Given the description of an element on the screen output the (x, y) to click on. 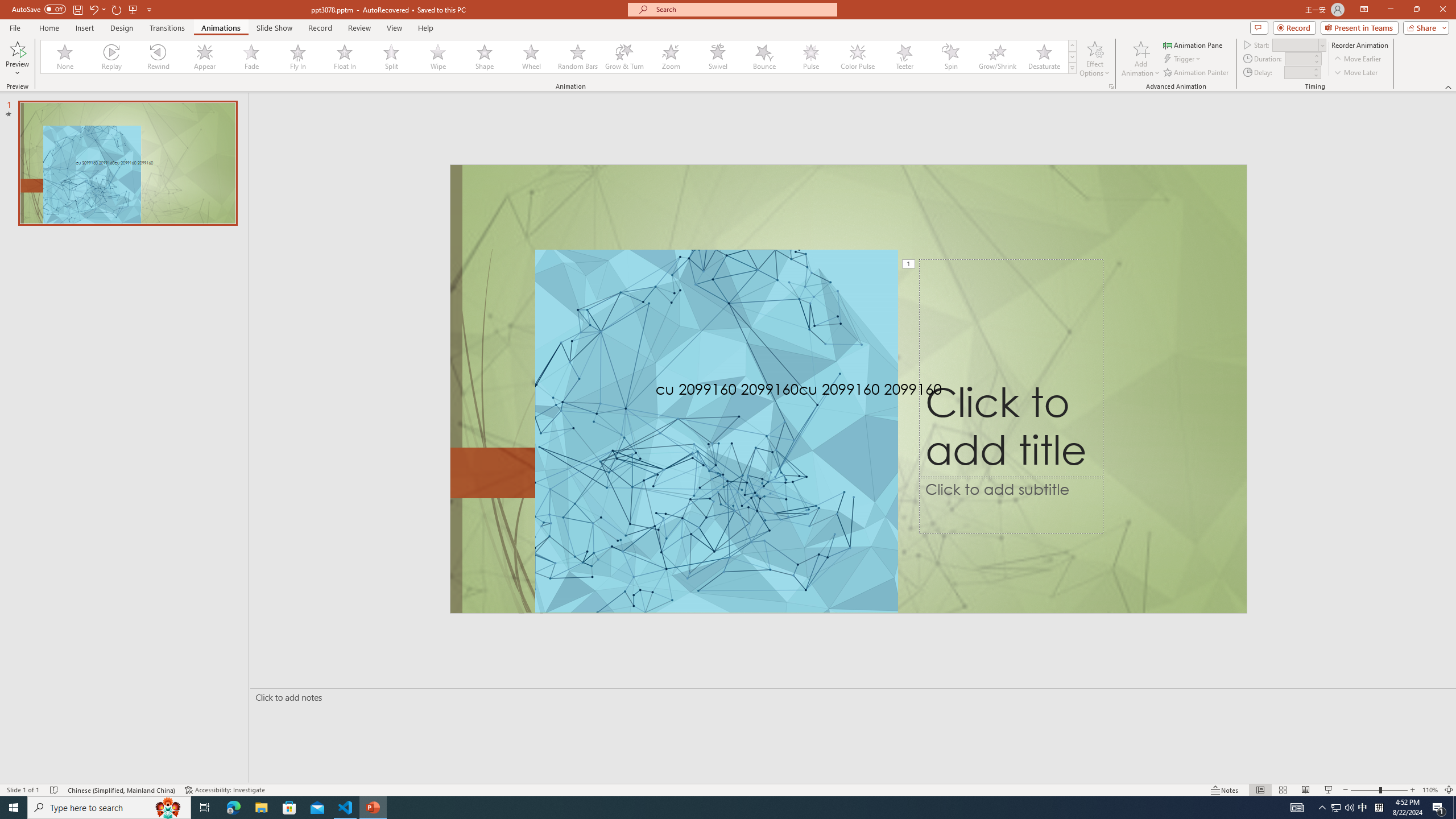
AutomationID: AnimationGallery (558, 56)
Appear (205, 56)
Replay (111, 56)
Move Later (1355, 72)
Move Earlier (1357, 58)
Less (1315, 75)
Teeter (903, 56)
